Given the description of an element on the screen output the (x, y) to click on. 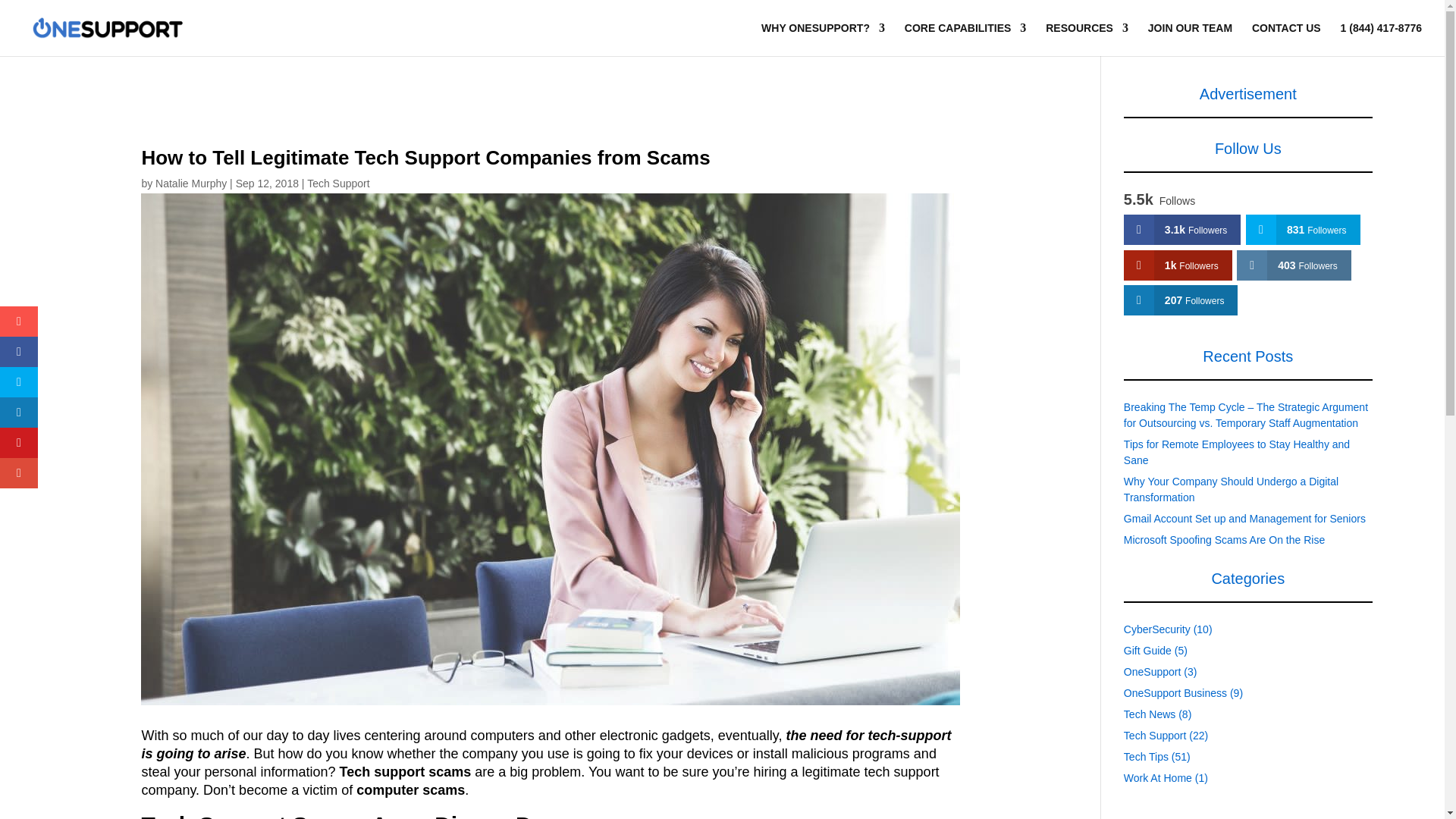
WHY ONESUPPORT? (823, 39)
CONTACT US (1286, 39)
Posts by Natalie Murphy (191, 183)
Tech Support (338, 183)
RESOURCES (1086, 39)
CORE CAPABILITIES (965, 39)
JOIN OUR TEAM (1189, 39)
Natalie Murphy (191, 183)
